Given the description of an element on the screen output the (x, y) to click on. 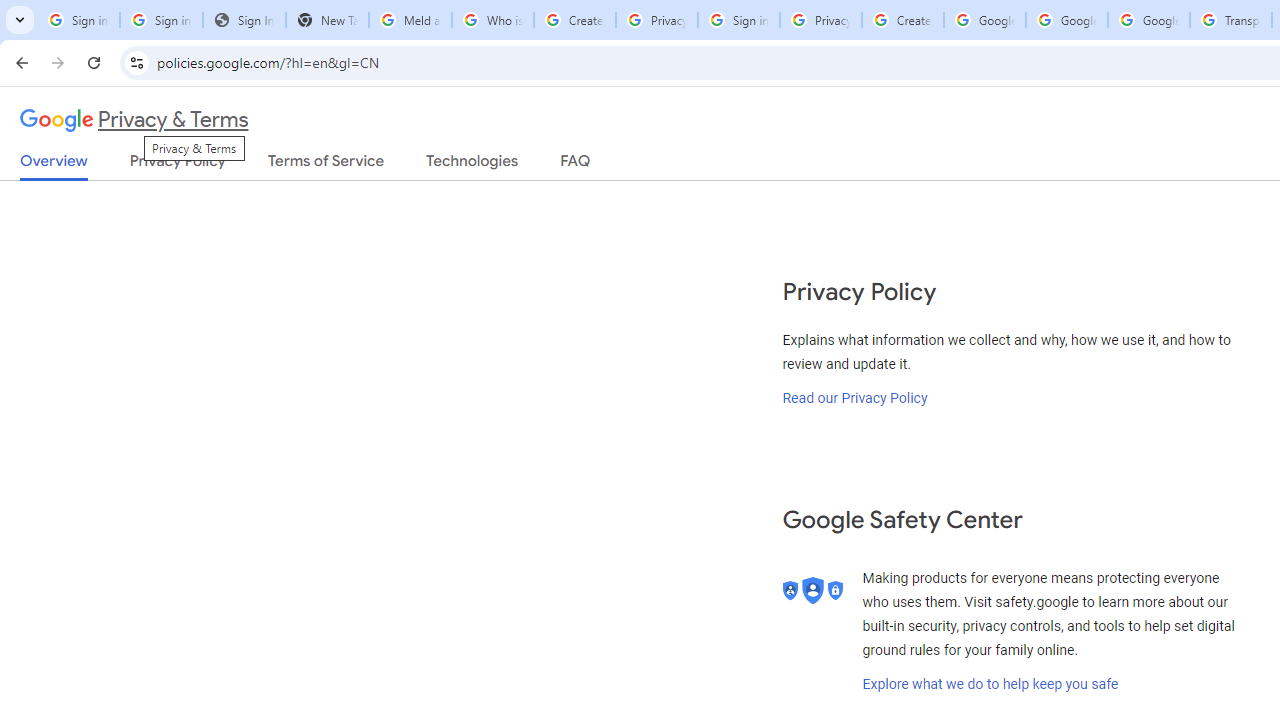
Privacy & Terms (134, 120)
Back (19, 62)
Create your Google Account (902, 20)
Overview (54, 166)
View site information (136, 62)
Create your Google Account (574, 20)
Sign in - Google Accounts (161, 20)
Privacy Policy (177, 165)
Google Account (1149, 20)
Forward (57, 62)
New Tab (326, 20)
Technologies (472, 165)
System (10, 11)
